Given the description of an element on the screen output the (x, y) to click on. 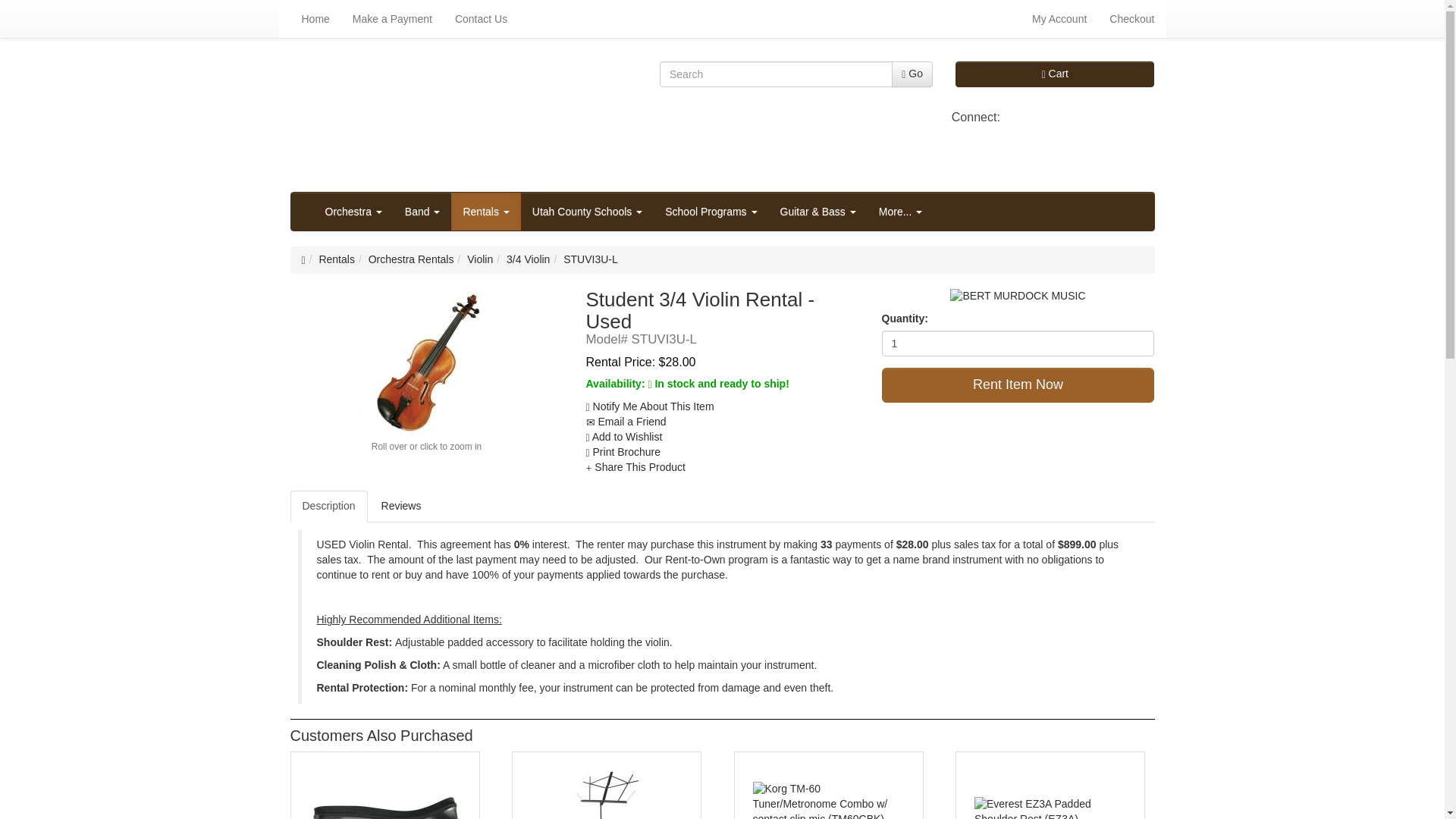
Checkout (1131, 18)
Orchestra (353, 211)
Make a Payment (392, 18)
Band (422, 211)
Home (314, 18)
Cart (1054, 73)
 BERT MURDOCK MUSIC  (1017, 296)
1 (1017, 343)
My Account (1058, 18)
Go (912, 73)
